Given the description of an element on the screen output the (x, y) to click on. 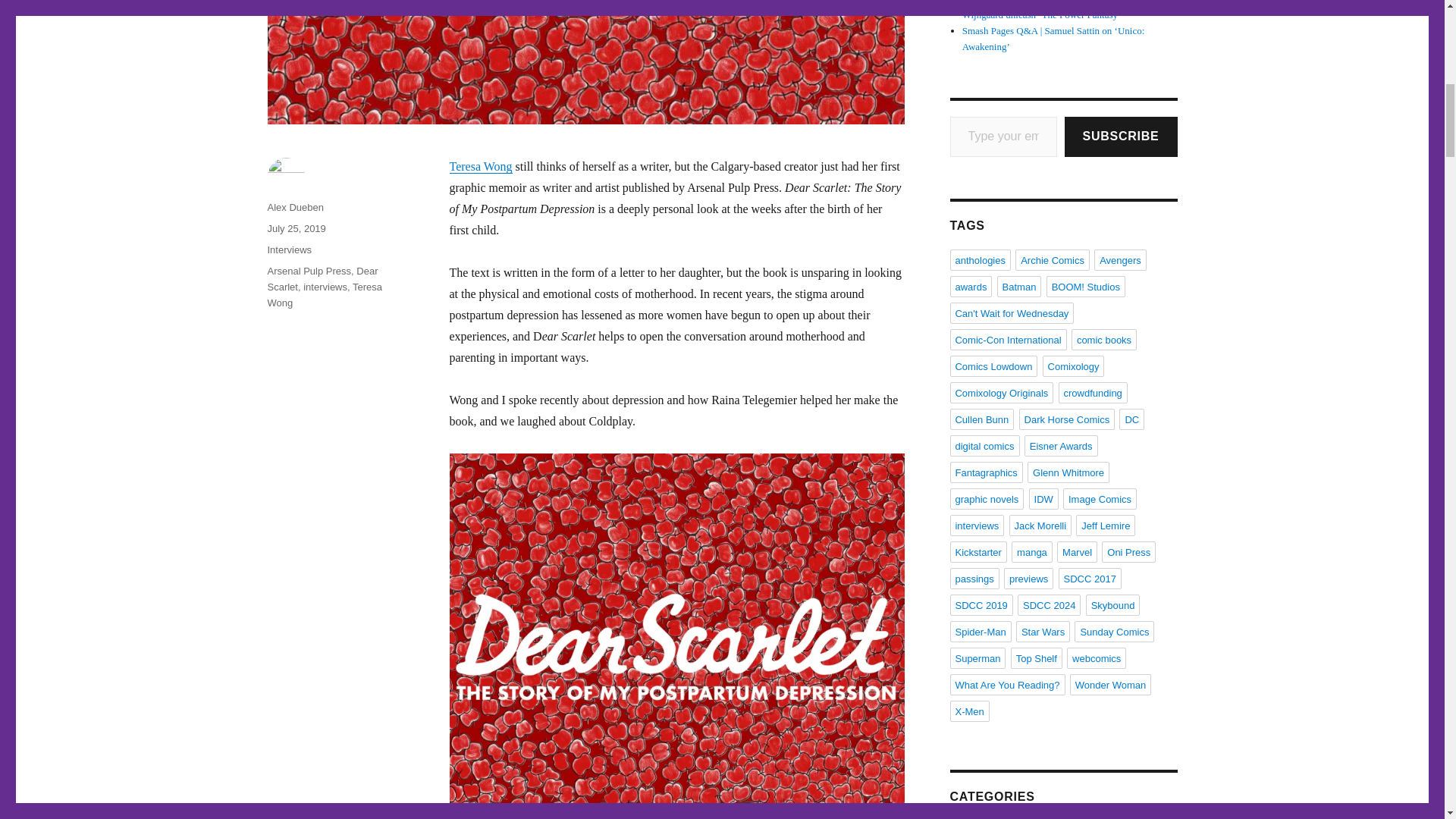
Dear Scarlet (321, 278)
July 25, 2019 (295, 228)
interviews (324, 286)
Alex Dueben (294, 206)
Teresa Wong (480, 165)
Interviews (288, 249)
Teresa Wong (323, 294)
Please fill in this field. (1003, 137)
Arsenal Pulp Press (308, 270)
